Given the description of an element on the screen output the (x, y) to click on. 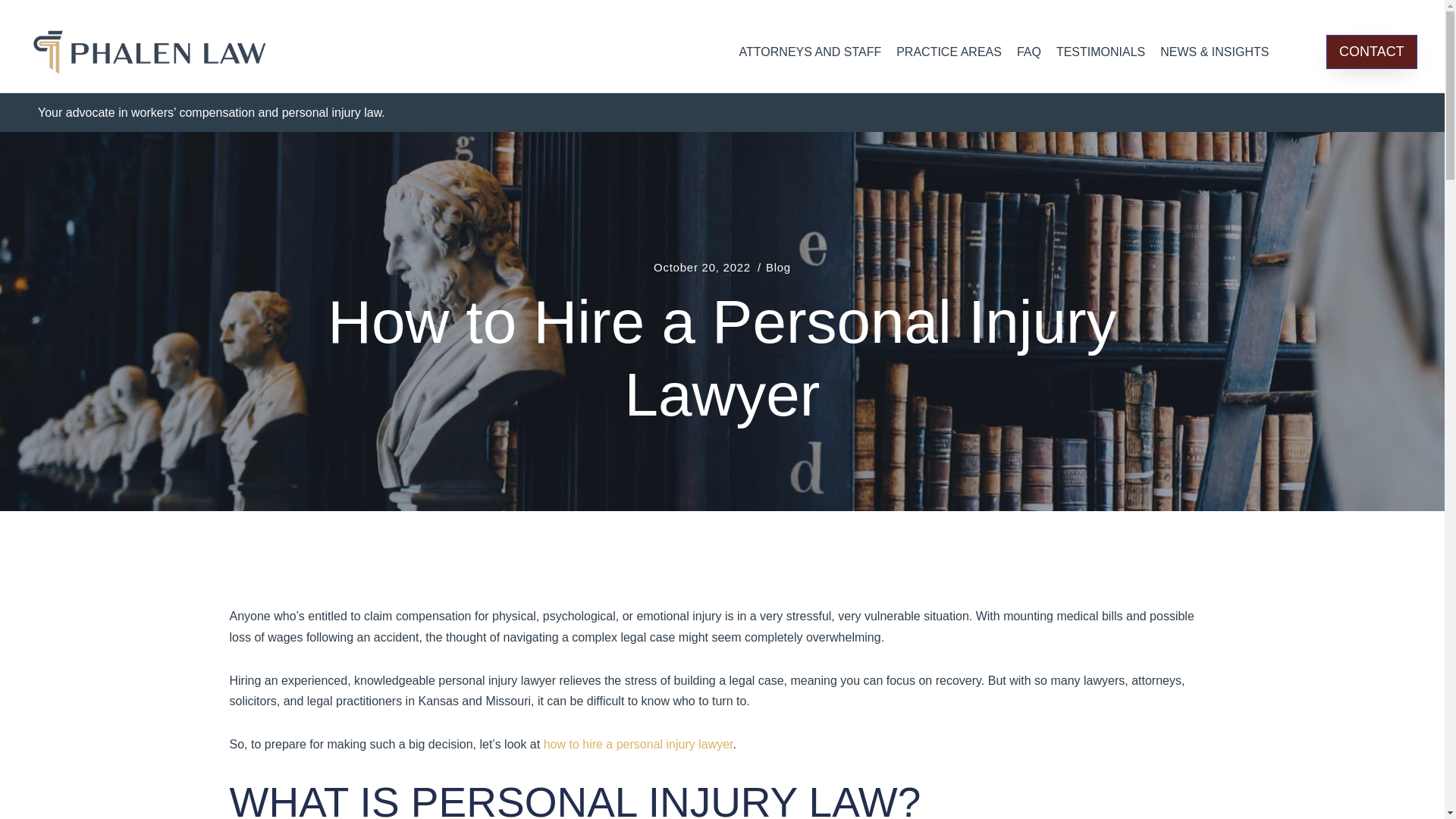
ATTORNEYS AND STAFF (810, 52)
TESTIMONIALS (1100, 52)
FAQ (1028, 52)
PRACTICE AREAS (948, 52)
CONTACT (1371, 51)
Blog (777, 268)
